Given the description of an element on the screen output the (x, y) to click on. 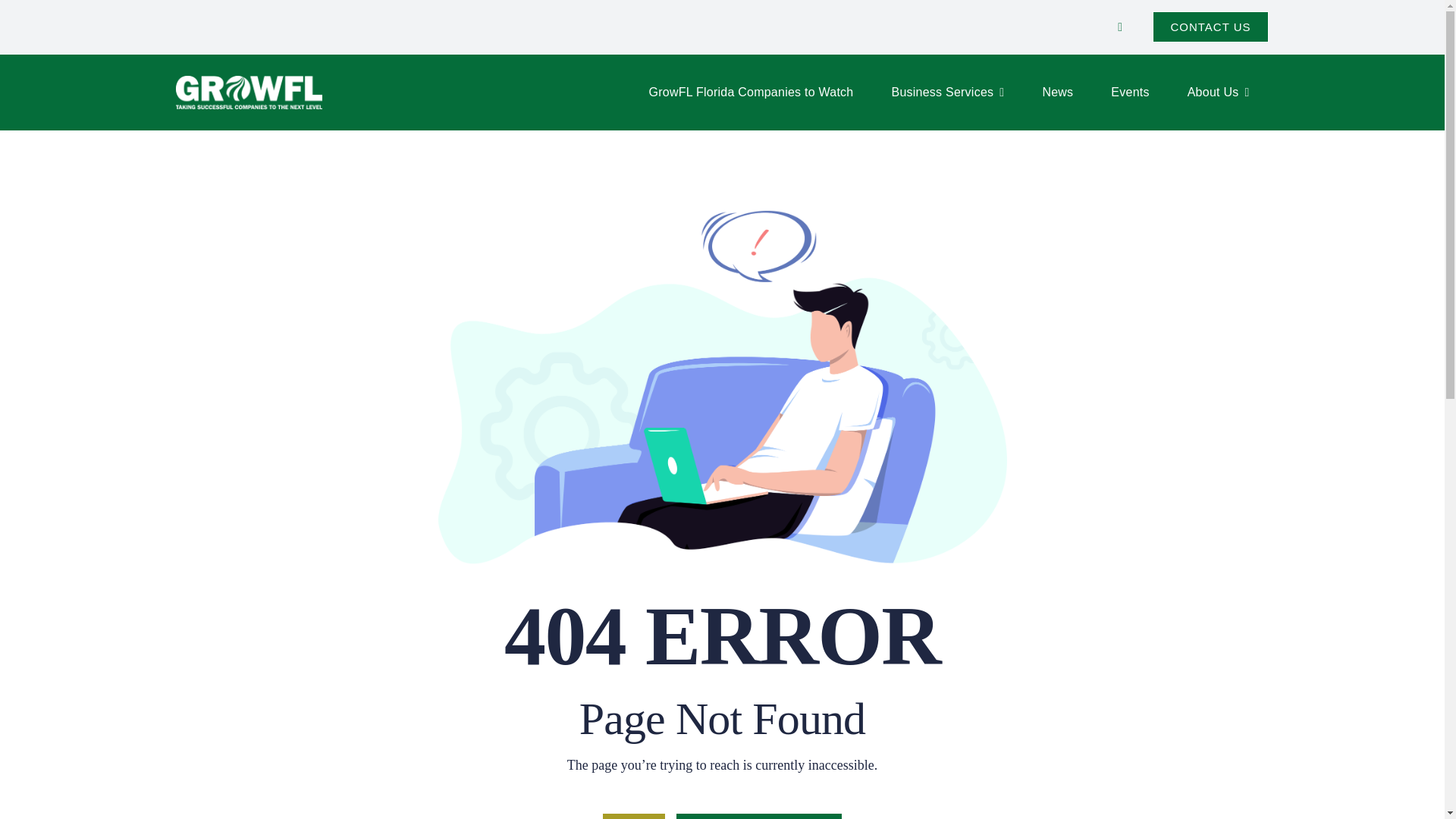
About Us (1218, 92)
GrowFL Florida Companies to Watch (751, 92)
Events (1129, 92)
Contact (1210, 26)
News (1057, 92)
Business Services (947, 92)
Go To Homepage (759, 816)
CONTACT US (1210, 26)
